Given the description of an element on the screen output the (x, y) to click on. 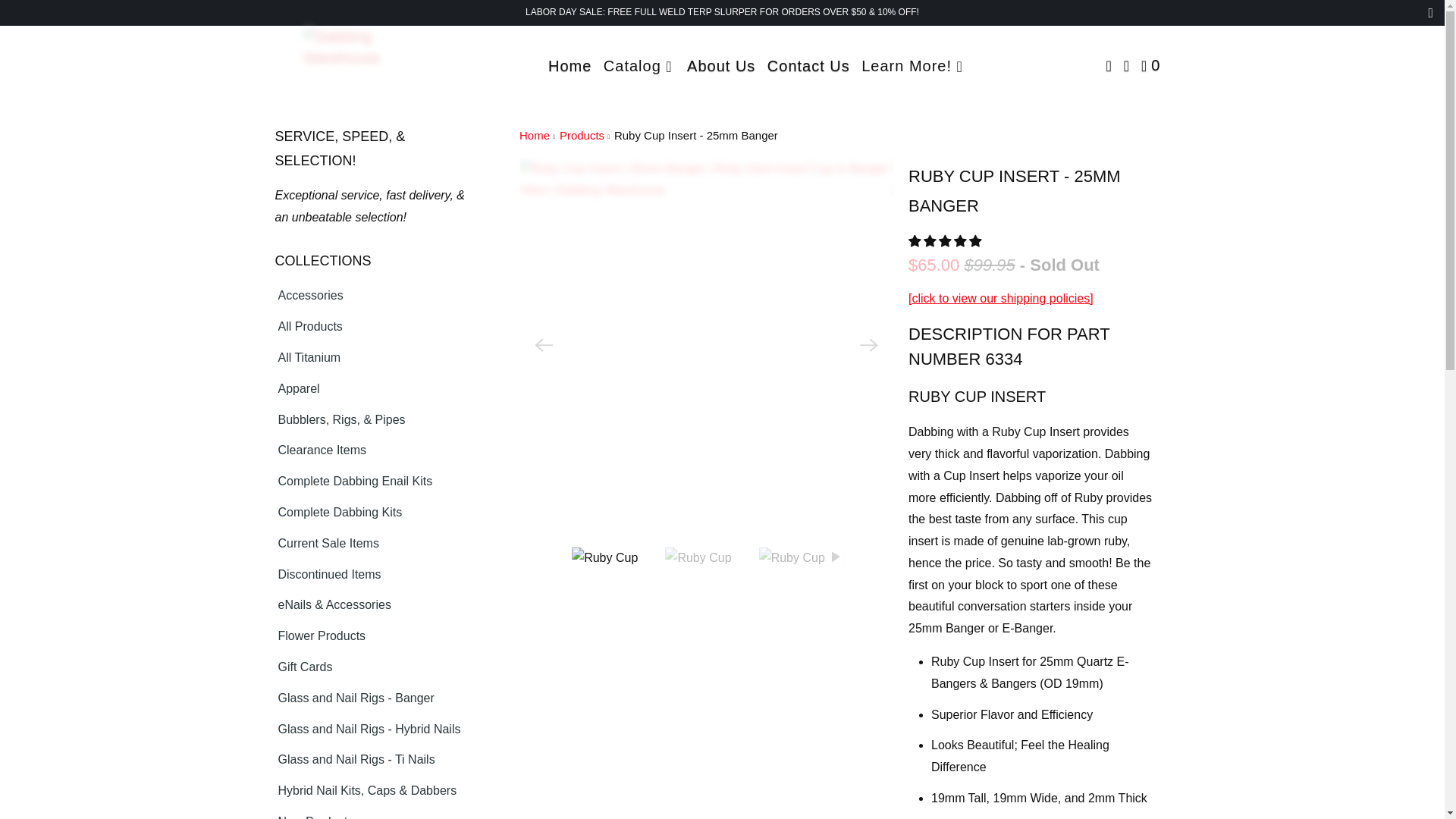
Dabbing Warehouse (342, 64)
Discontinued Items (323, 575)
Current Sale Items (322, 544)
Complete Dabbing Kits (334, 513)
Gift Cards (299, 667)
Accessories (304, 296)
Apparel (292, 389)
Flower Products (316, 636)
Complete Dabbing Enail Kits (349, 481)
All Titanium (303, 358)
